Given the description of an element on the screen output the (x, y) to click on. 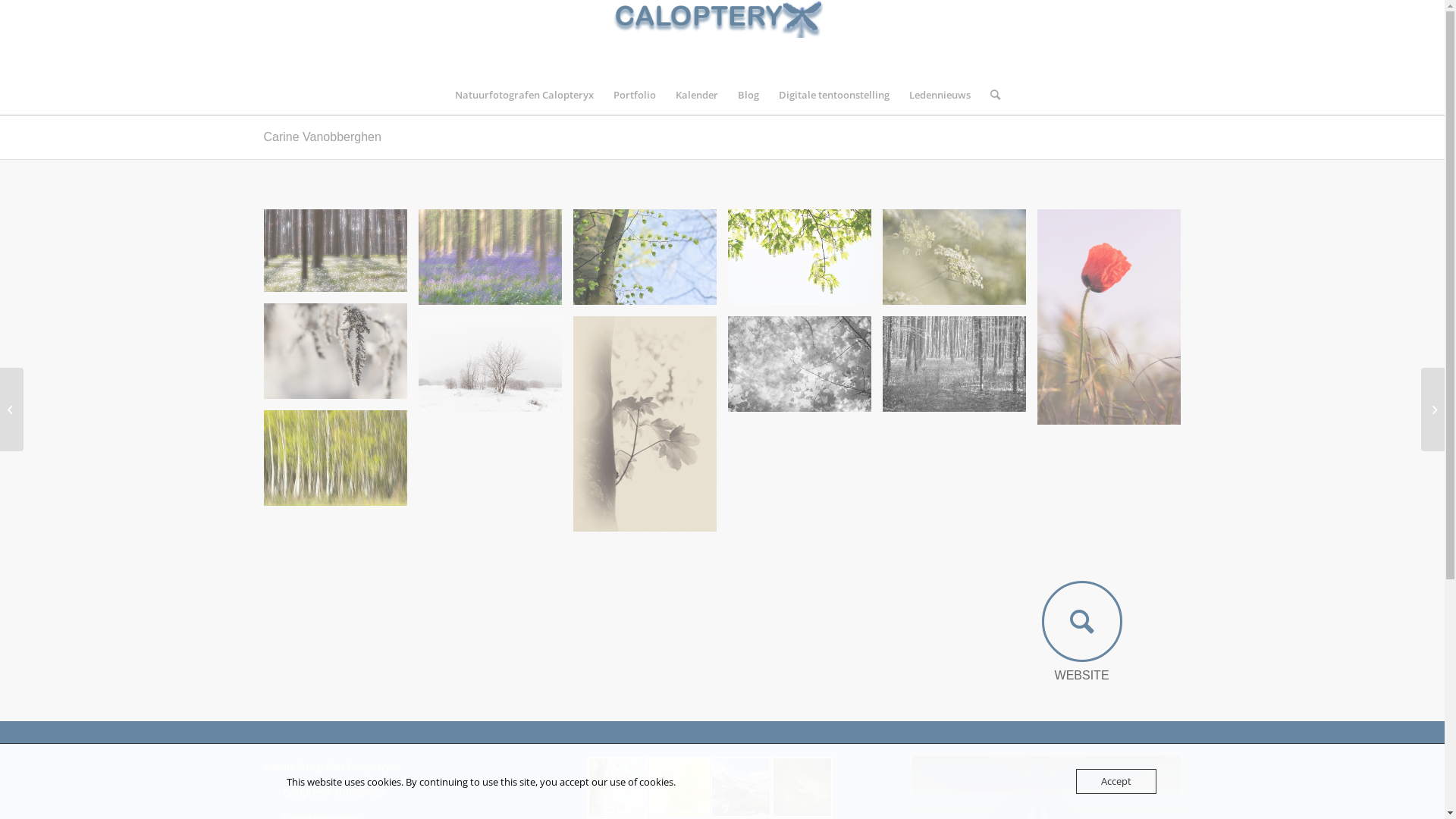
Licht in zwart/wit Element type: hover (954, 363)
White light Element type: hover (335, 250)
Monogreen Element type: hover (805, 262)
Portfolio Element type: text (634, 94)
Natuurfotografen Calopteryx Element type: text (523, 94)
Lentegroen Element type: hover (650, 262)
Ijs Element type: hover (340, 356)
Monogreen Element type: hover (799, 256)
Blog Element type: text (748, 94)
Natuurfotografen Calopteryx Element type: text (398, 767)
Good morning sunshine Element type: hover (1114, 322)
Licht in zwart/wit Element type: hover (959, 369)
Whiseling Element type: hover (954, 256)
Bluebell wood Element type: hover (489, 256)
Bluebell wood Element type: hover (495, 262)
Kalender Element type: text (696, 94)
Accept Element type: text (1115, 780)
Whiseling Element type: hover (959, 262)
Whispering Element type: hover (644, 423)
Fragile Element type: hover (805, 369)
Carine Vanobberghen Element type: text (322, 136)
Hoge Venen Element type: hover (489, 363)
Whispering Element type: hover (650, 429)
Fragile Element type: hover (799, 363)
Good morning sunshine Element type: hover (1108, 316)
Ijs Element type: hover (335, 350)
White light Element type: hover (340, 256)
Blur lijnenspel Element type: hover (340, 463)
Blur lijnenspel Element type: hover (335, 457)
Hoge Venen Element type: hover (495, 369)
Lentegroen Element type: hover (644, 256)
Ledennieuws Element type: text (939, 94)
Calopteryx stuurgroep Element type: text (402, 792)
Digitale tentoonstelling Element type: text (833, 94)
